Given the description of an element on the screen output the (x, y) to click on. 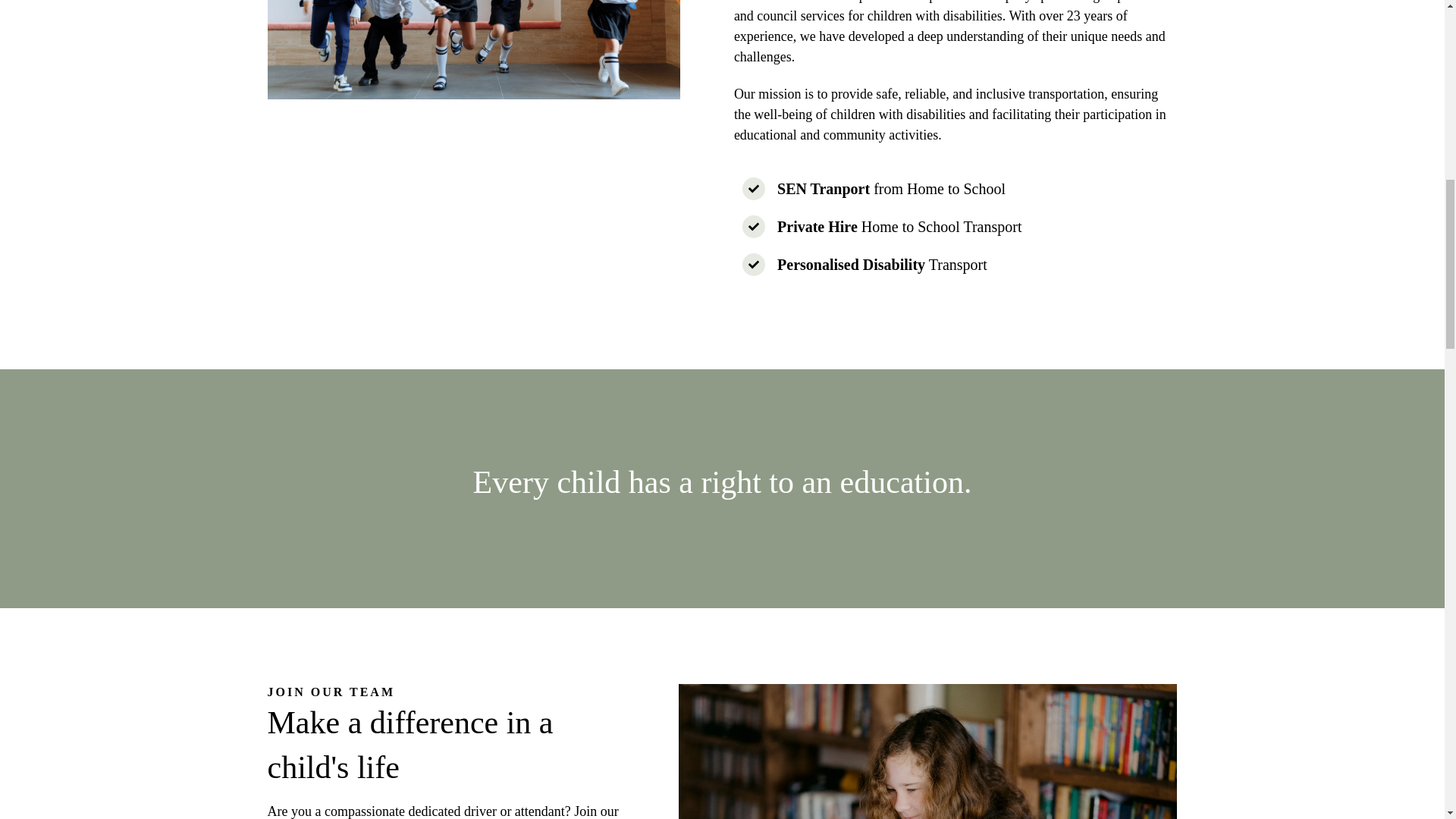
annie-spratt-xKJUnFwfz3s-unsplash (927, 751)
Website Header Sherwood (472, 49)
